Given the description of an element on the screen output the (x, y) to click on. 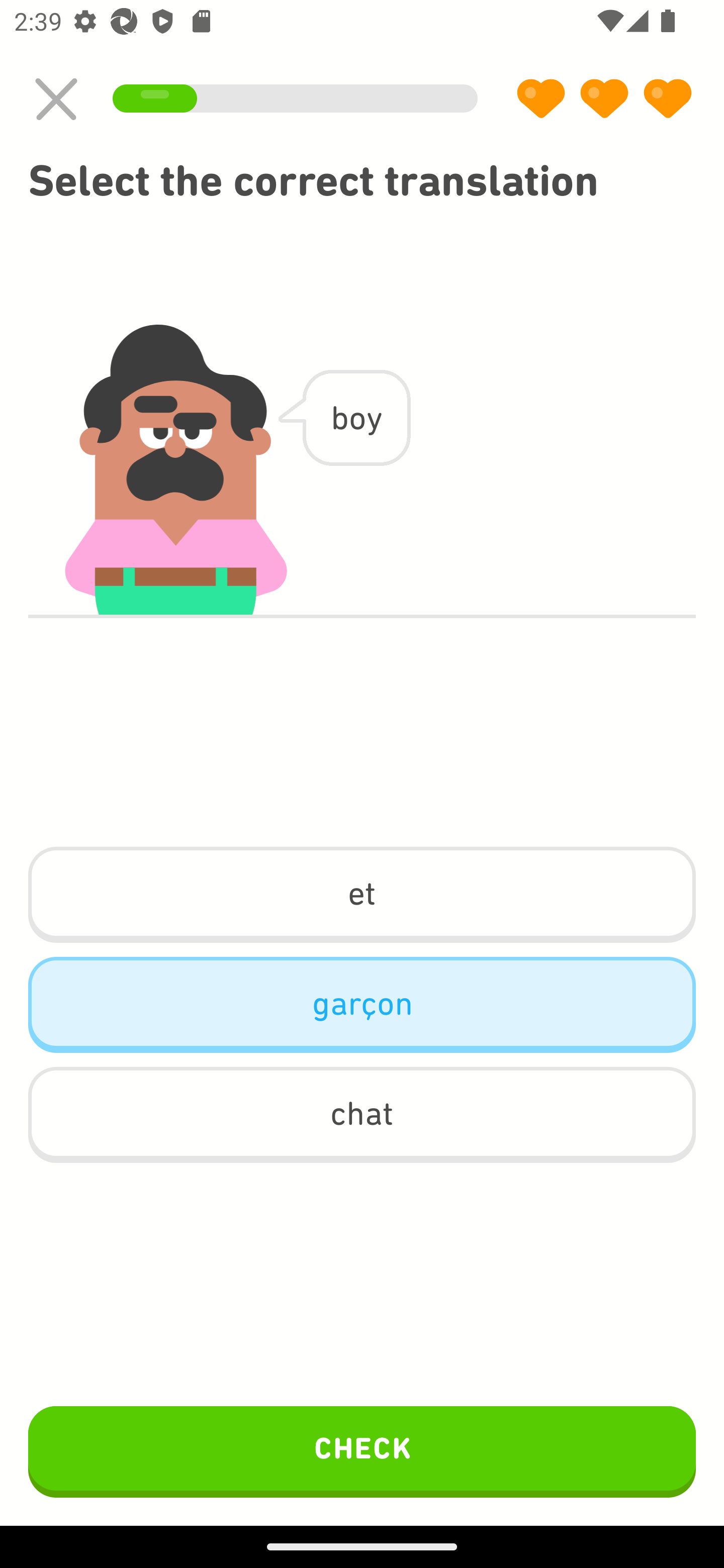
Select the correct translation (361, 180)
et (361, 894)
garçon (361, 1004)
chat (361, 1114)
CHECK (361, 1451)
